Given the description of an element on the screen output the (x, y) to click on. 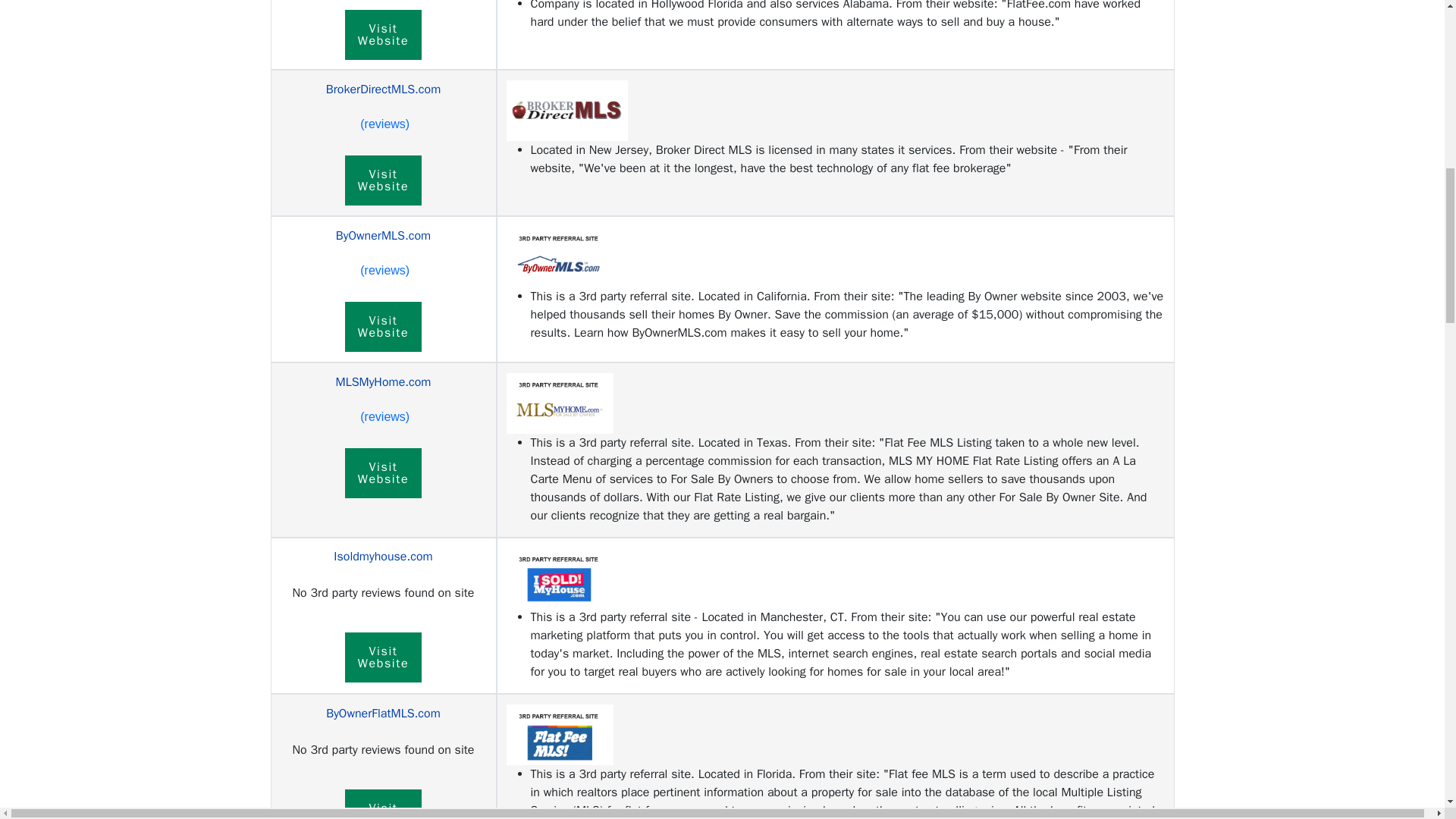
BrokerDirectMLS.com (383, 472)
ByOwnerMLS.com (383, 89)
MLSMyHome.com (383, 33)
ByOwnerFlatMLS.com (383, 235)
Isoldmyhouse.com (383, 381)
